Given the description of an element on the screen output the (x, y) to click on. 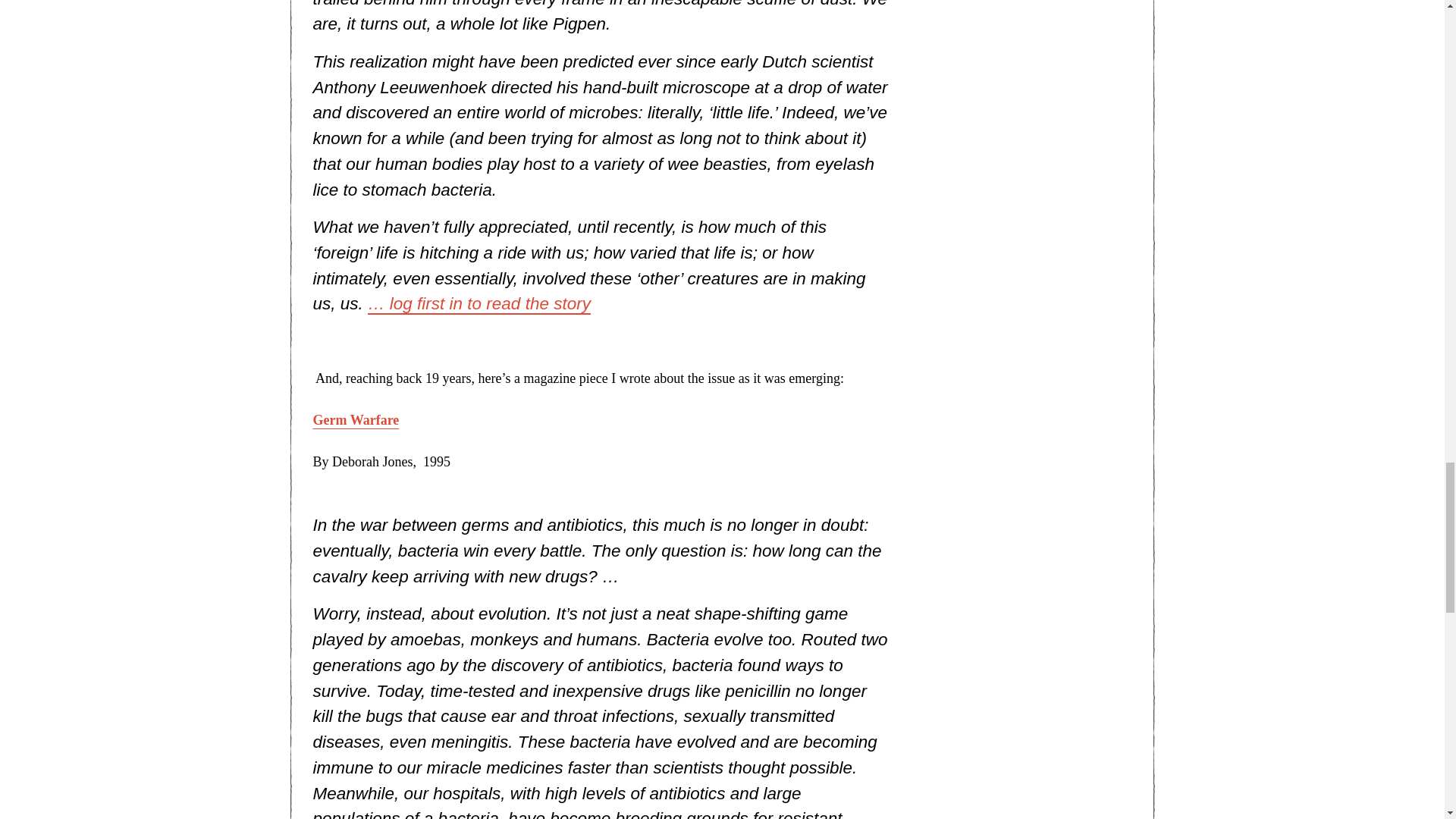
Permalink to Germ Warfare (355, 419)
CHRIS WOOD: Natural Security (479, 303)
Germ Warfare (355, 419)
